Given the description of an element on the screen output the (x, y) to click on. 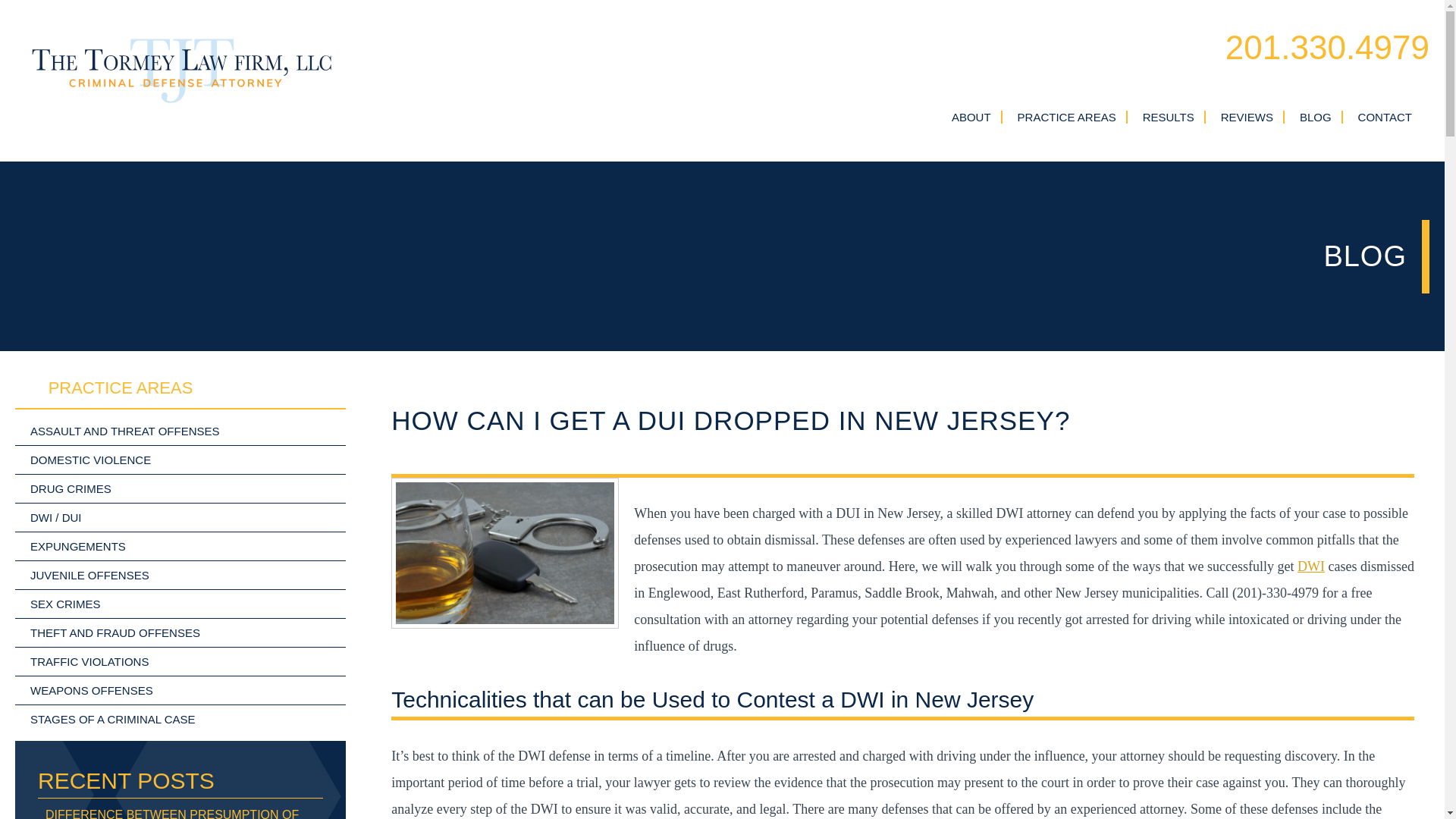
201.330.4979 (1327, 47)
CONTACT (1385, 116)
ASSAULT AND THREAT OFFENSES (180, 431)
BLOG (1316, 116)
REVIEWS (1246, 116)
PRACTICE AREAS (1066, 116)
ABOUT (971, 116)
RESULTS (1167, 116)
